Given the description of an element on the screen output the (x, y) to click on. 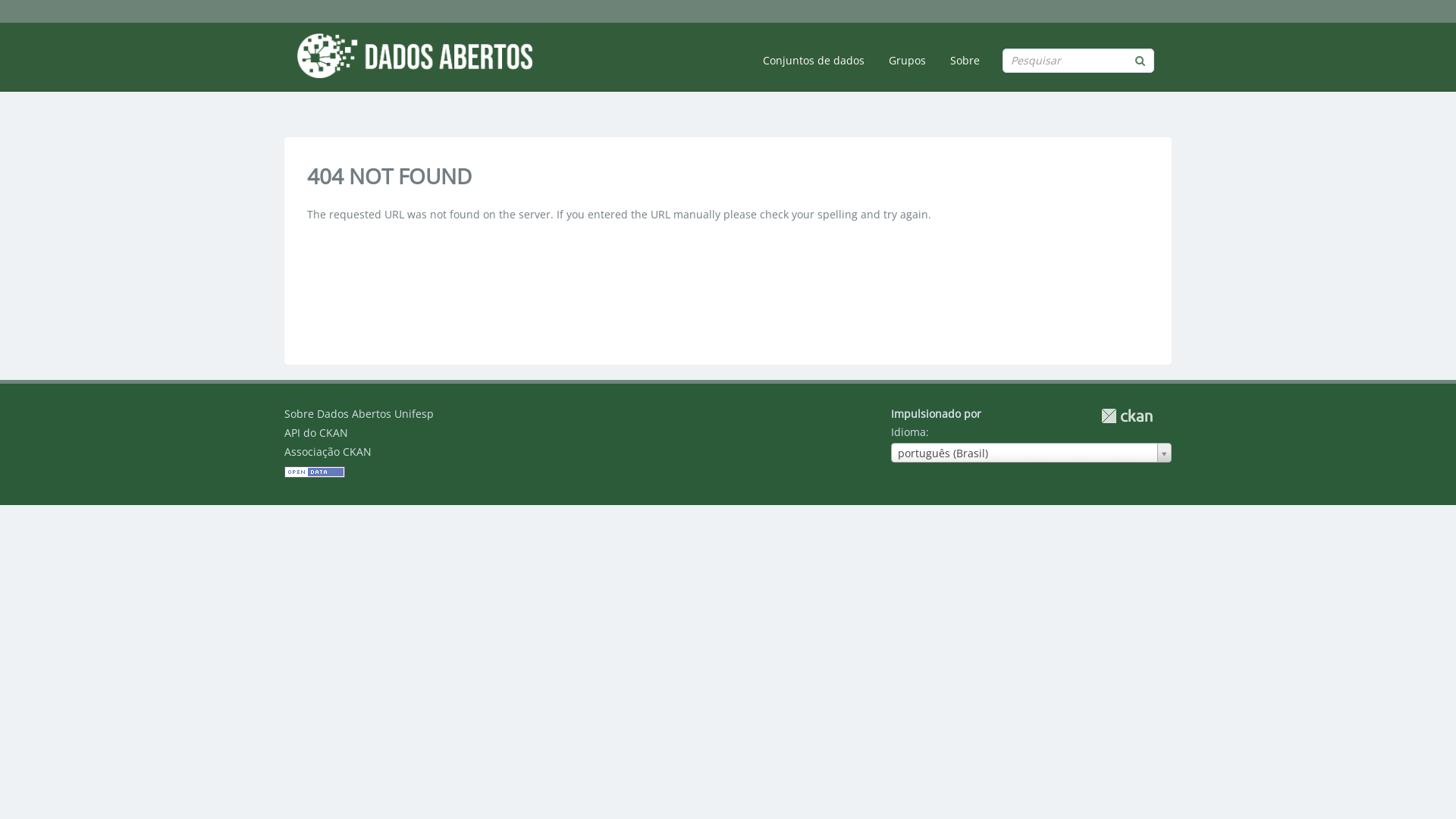
CKAN Element type: text (1126, 415)
Dados Abertos Unifesp Element type: hover (414, 55)
Sobre Dados Abertos Unifesp Element type: text (358, 413)
Conjuntos de dados Element type: text (813, 60)
API do CKAN Element type: text (316, 432)
Grupos Element type: text (907, 60)
Sobre Element type: text (964, 60)
